Given the description of an element on the screen output the (x, y) to click on. 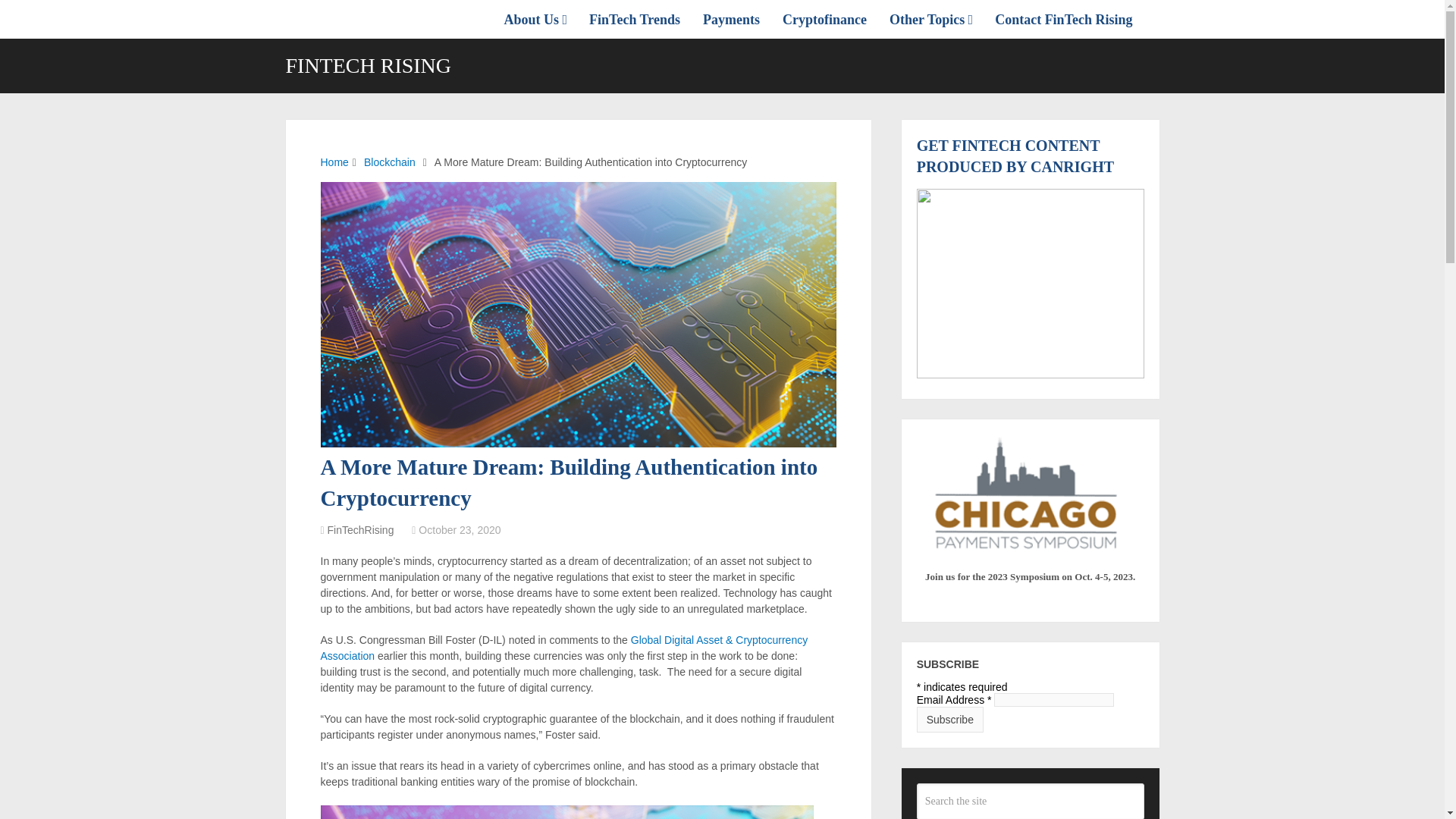
Home (333, 162)
FinTech Trends (634, 19)
Other Topics (930, 19)
FINTECH RISING (368, 65)
FinTechRising (360, 530)
About Us (540, 19)
Blockchain (389, 162)
Subscribe (950, 719)
Posts by FinTechRising (360, 530)
Contact FinTech Rising (1063, 19)
Cryptofinance (824, 19)
Payments (731, 19)
